Given the description of an element on the screen output the (x, y) to click on. 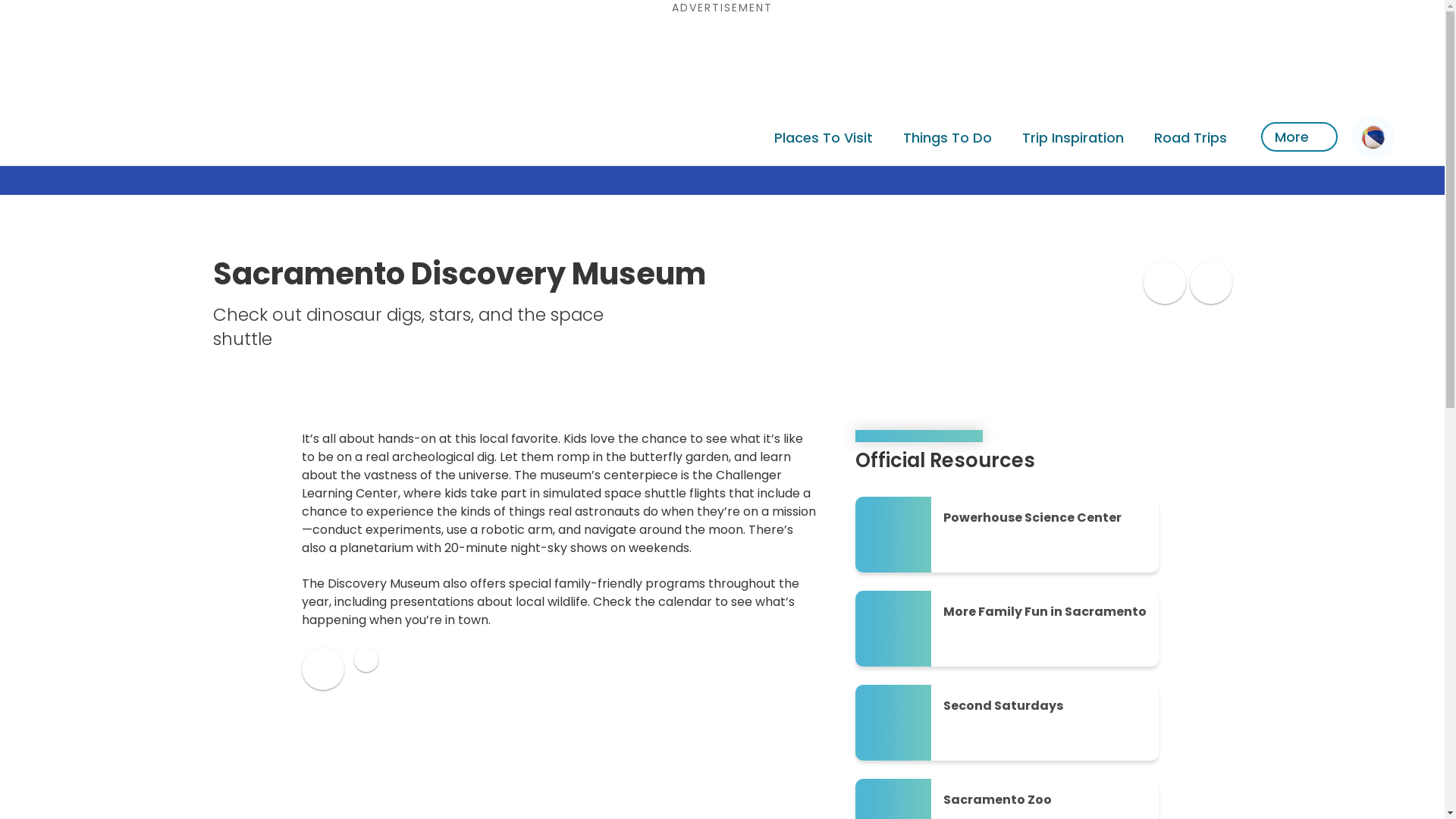
on (1210, 282)
Places To Visit (823, 136)
on (365, 659)
More Family Fun in Sacramento (1007, 628)
Powerhouse Science Center (1007, 534)
Powerhouse Science Center (1007, 534)
More (1299, 136)
Second Saturdays (1007, 722)
Visit California (78, 138)
Sacramento Zoo (1007, 798)
Things To Do (947, 136)
Road Trips (1190, 136)
Trip Inspiration (1071, 136)
